Given the description of an element on the screen output the (x, y) to click on. 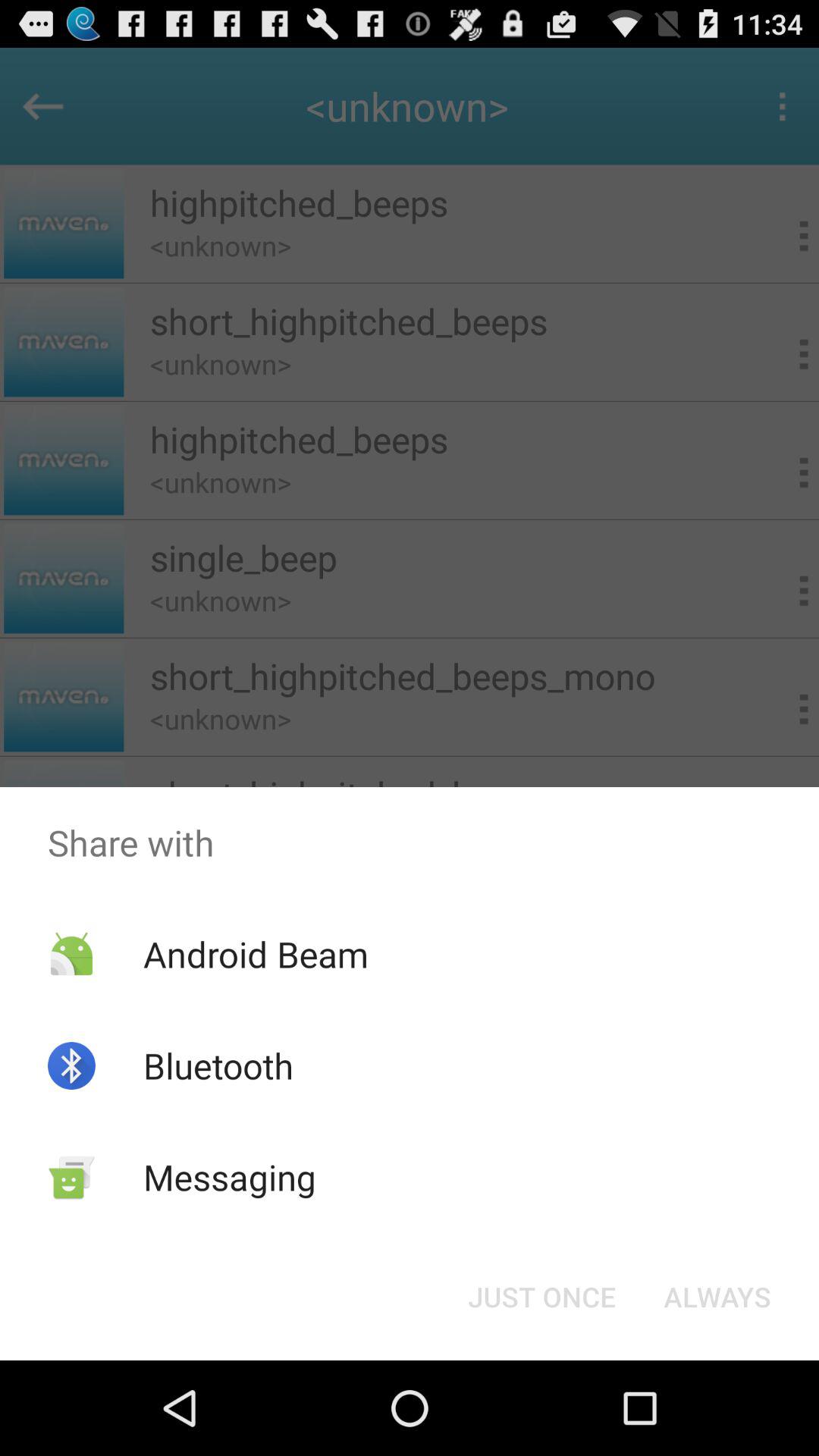
choose item below share with icon (717, 1296)
